Given the description of an element on the screen output the (x, y) to click on. 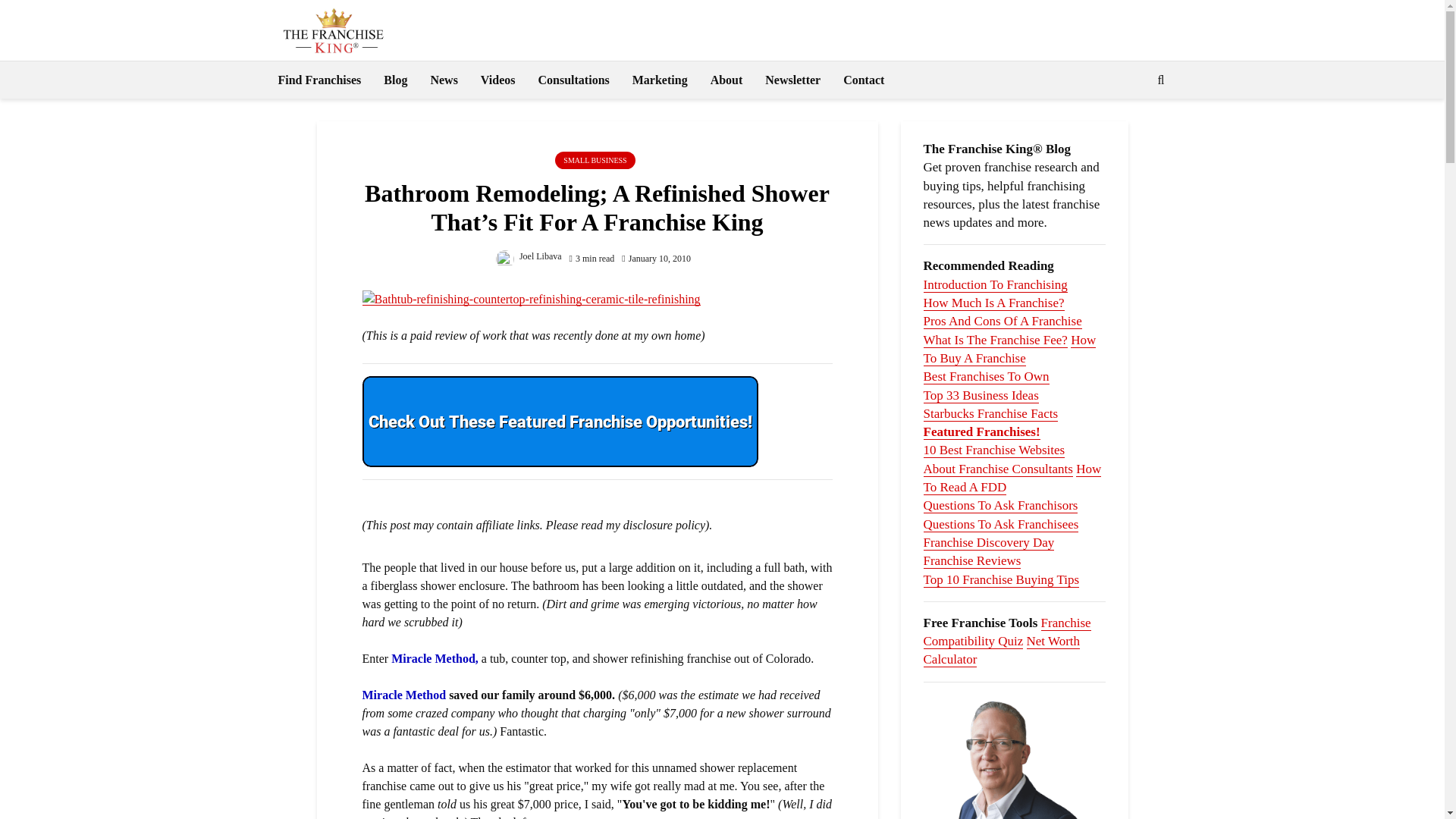
Marketing (659, 80)
Newsletter (792, 80)
Blog (395, 80)
About (726, 80)
Videos (497, 80)
Contact (863, 80)
Find Franchises (319, 80)
disclosure (647, 524)
Joel Libava (529, 255)
Consultations (572, 80)
